Given the description of an element on the screen output the (x, y) to click on. 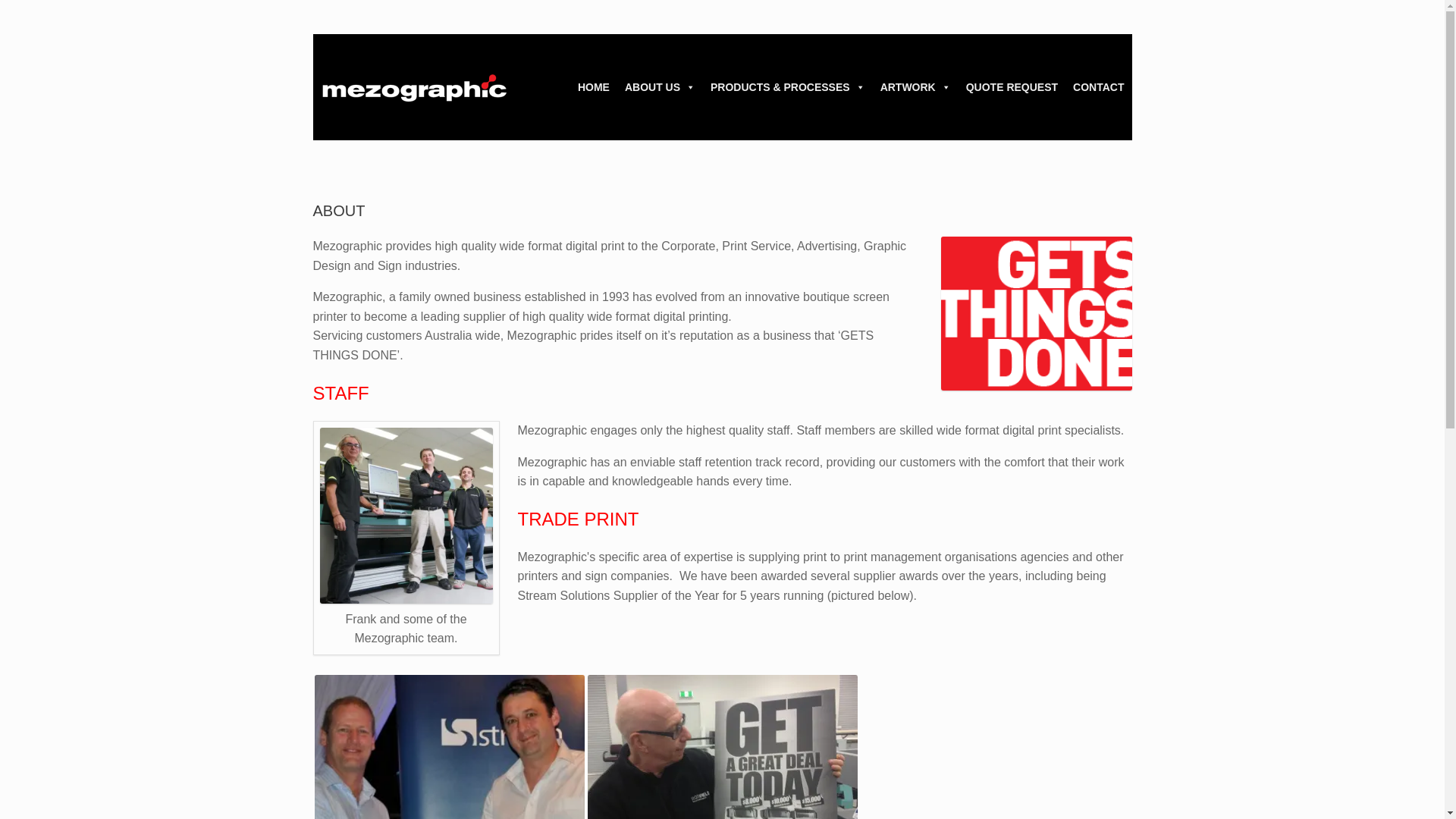
MezographicAward (448, 746)
tradeprint (721, 746)
QUOTE REQUEST (1011, 87)
